Given the description of an element on the screen output the (x, y) to click on. 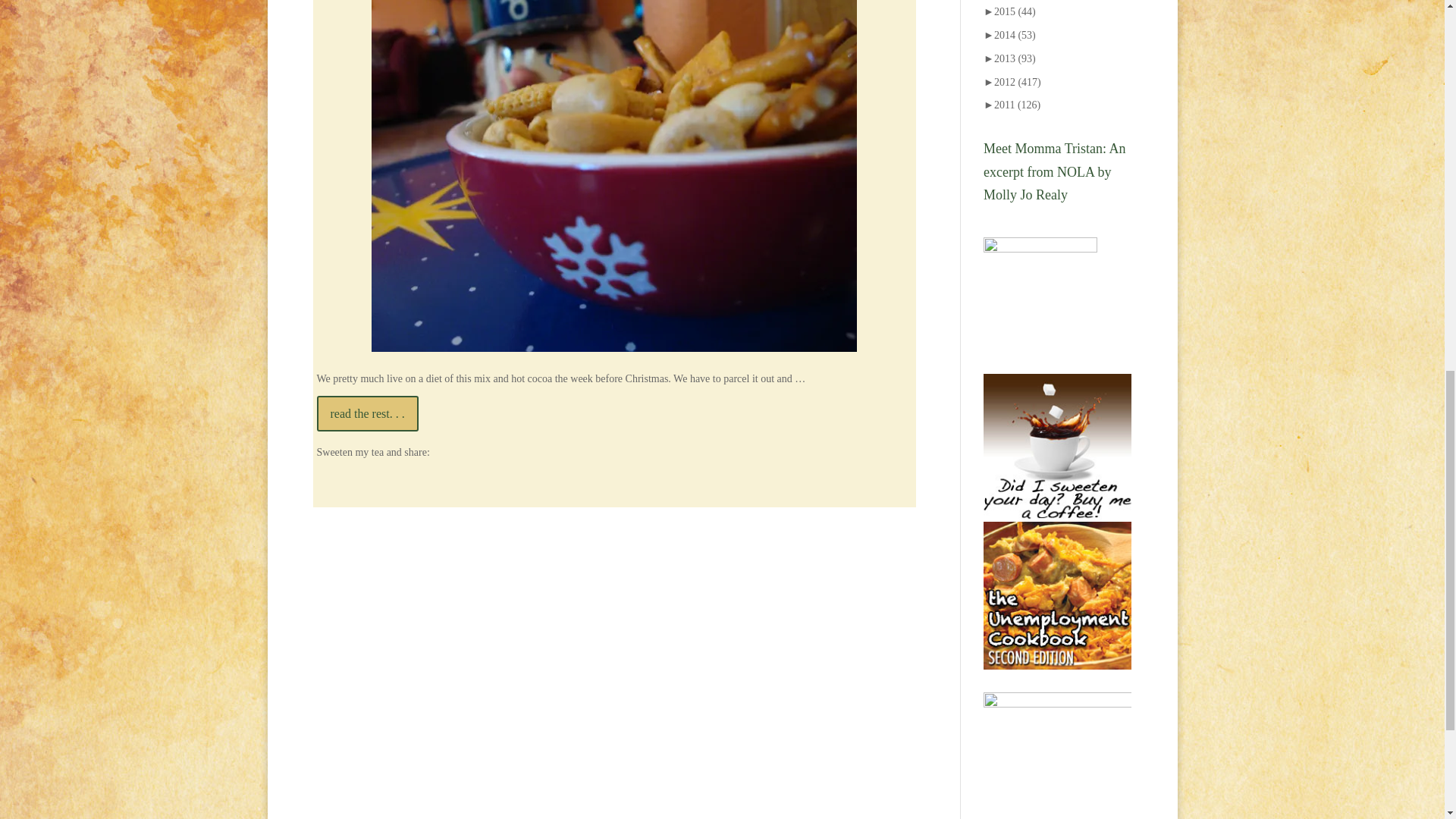
read the rest. . . (368, 413)
